Given the description of an element on the screen output the (x, y) to click on. 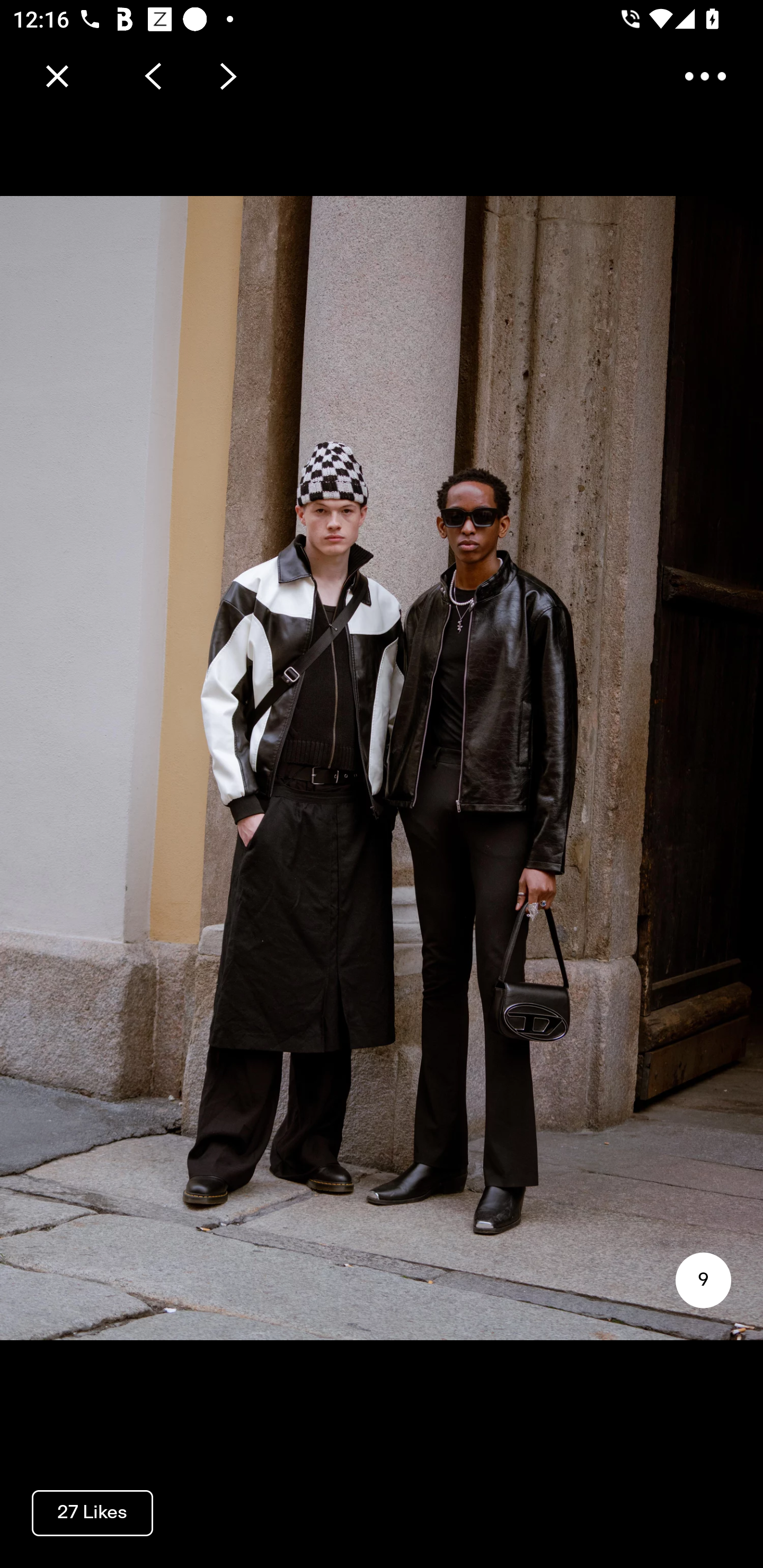
9 (702, 1279)
27 Likes (92, 1512)
